Given the description of an element on the screen output the (x, y) to click on. 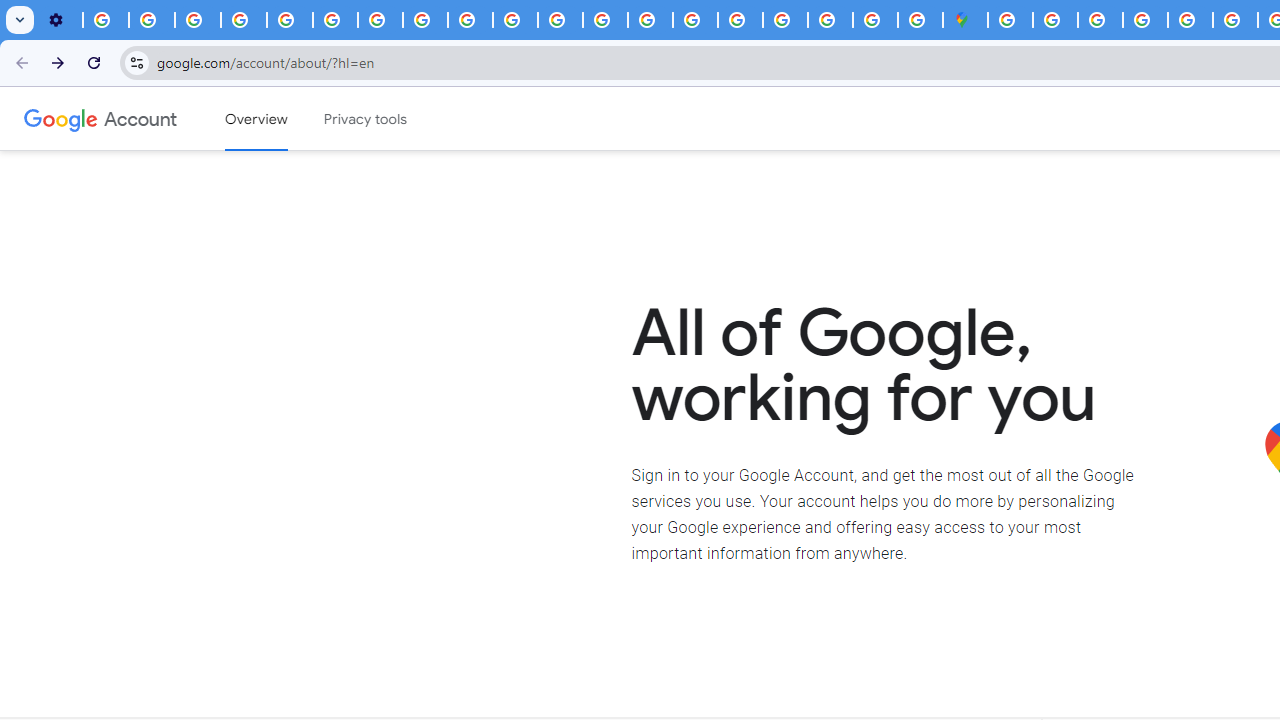
Google Account (140, 118)
Google Maps (965, 20)
Terms and Conditions (1190, 20)
Delete photos & videos - Computer - Google Photos Help (106, 20)
